Given the description of an element on the screen output the (x, y) to click on. 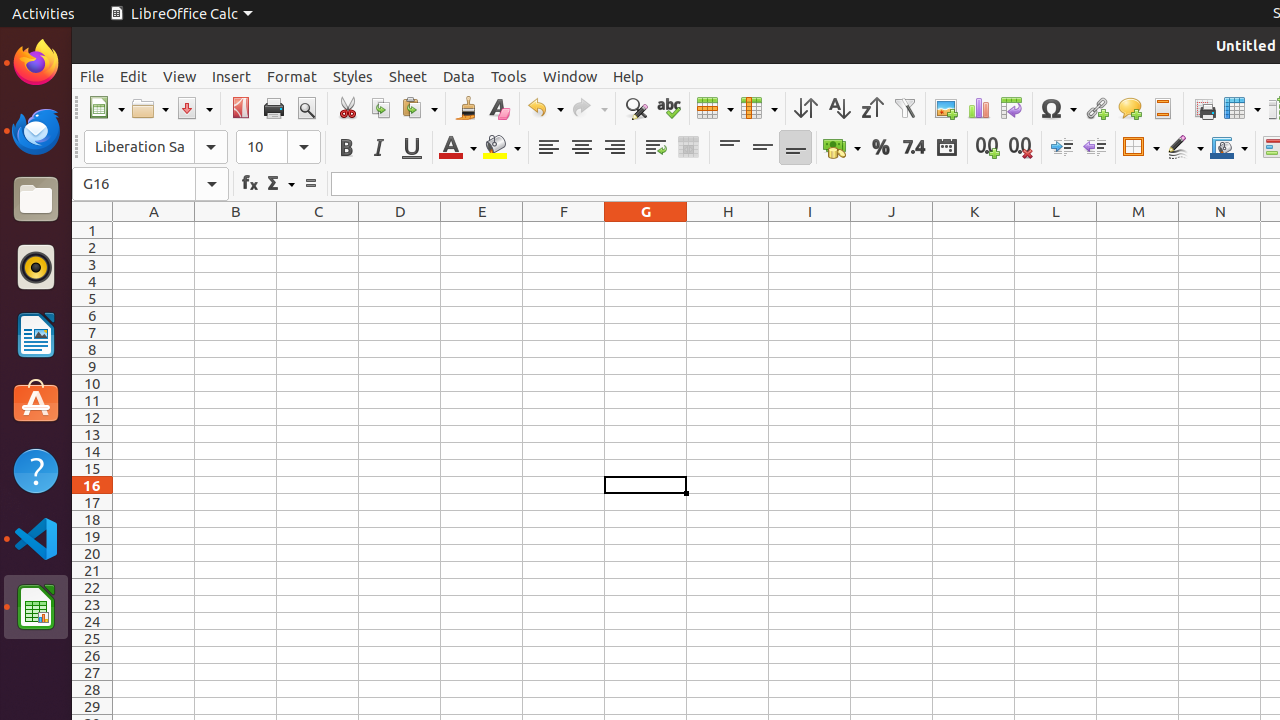
Clone Element type: push-button (465, 108)
C1 Element type: table-cell (318, 230)
Column Element type: push-button (759, 108)
Font Size Element type: combo-box (278, 147)
Image Element type: push-button (945, 108)
